Given the description of an element on the screen output the (x, y) to click on. 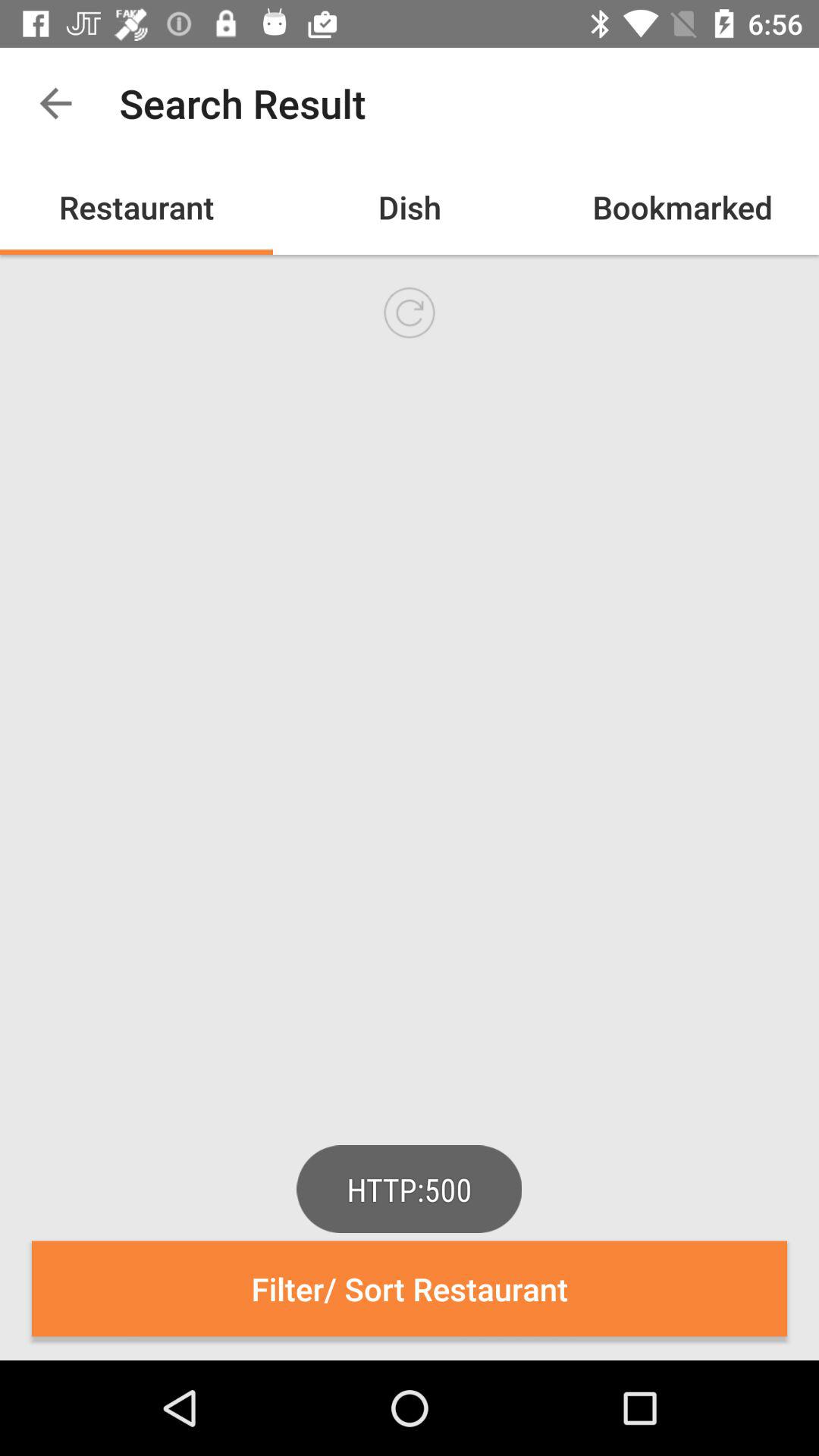
refresh poage (409, 312)
